Given the description of an element on the screen output the (x, y) to click on. 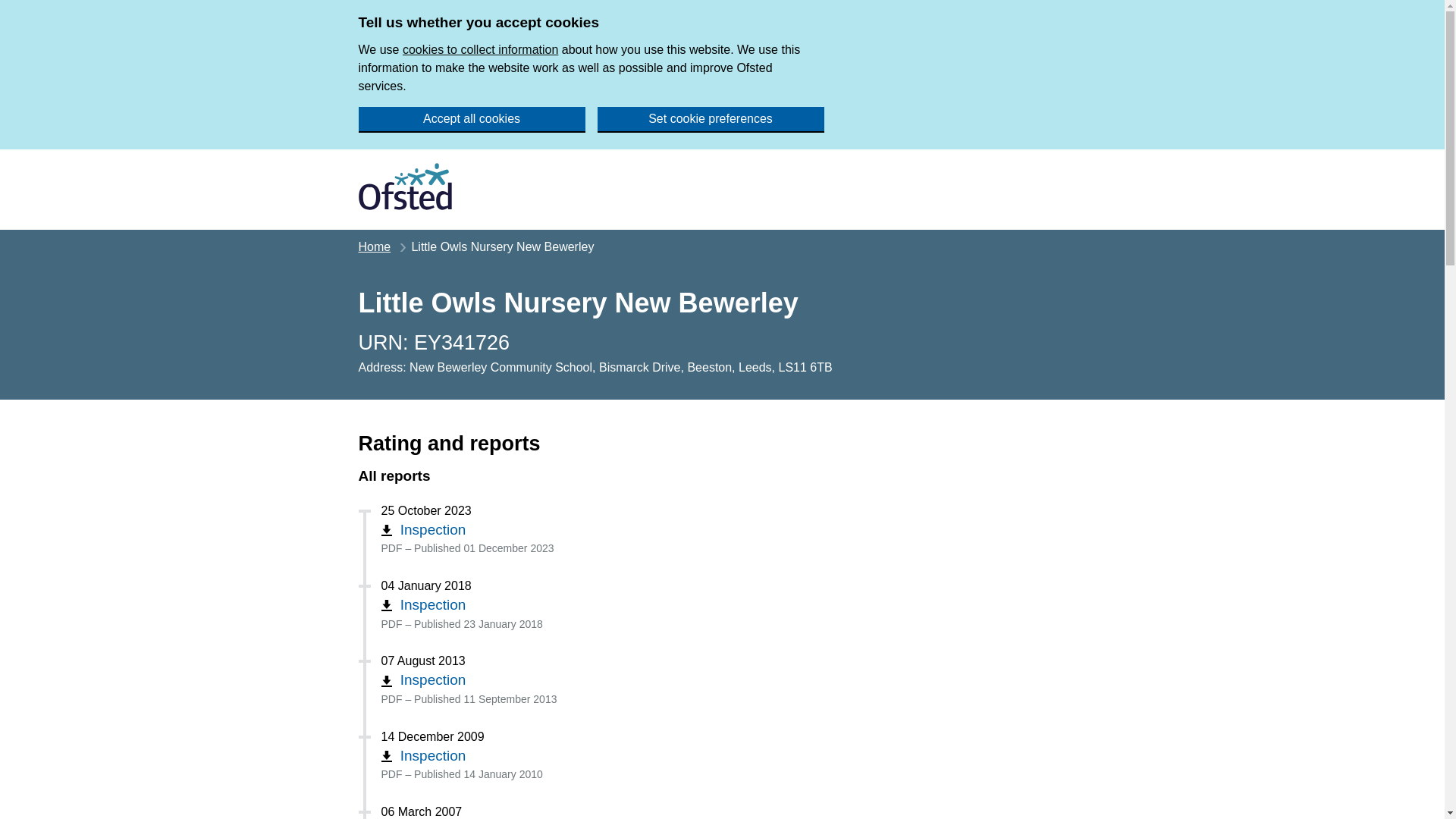
Inspection (422, 604)
Accept all cookies (471, 119)
Inspection (422, 755)
Home (374, 246)
Inspection (422, 529)
cookies to collect information (480, 49)
Inspection (422, 679)
Set cookie preferences (710, 119)
